Given the description of an element on the screen output the (x, y) to click on. 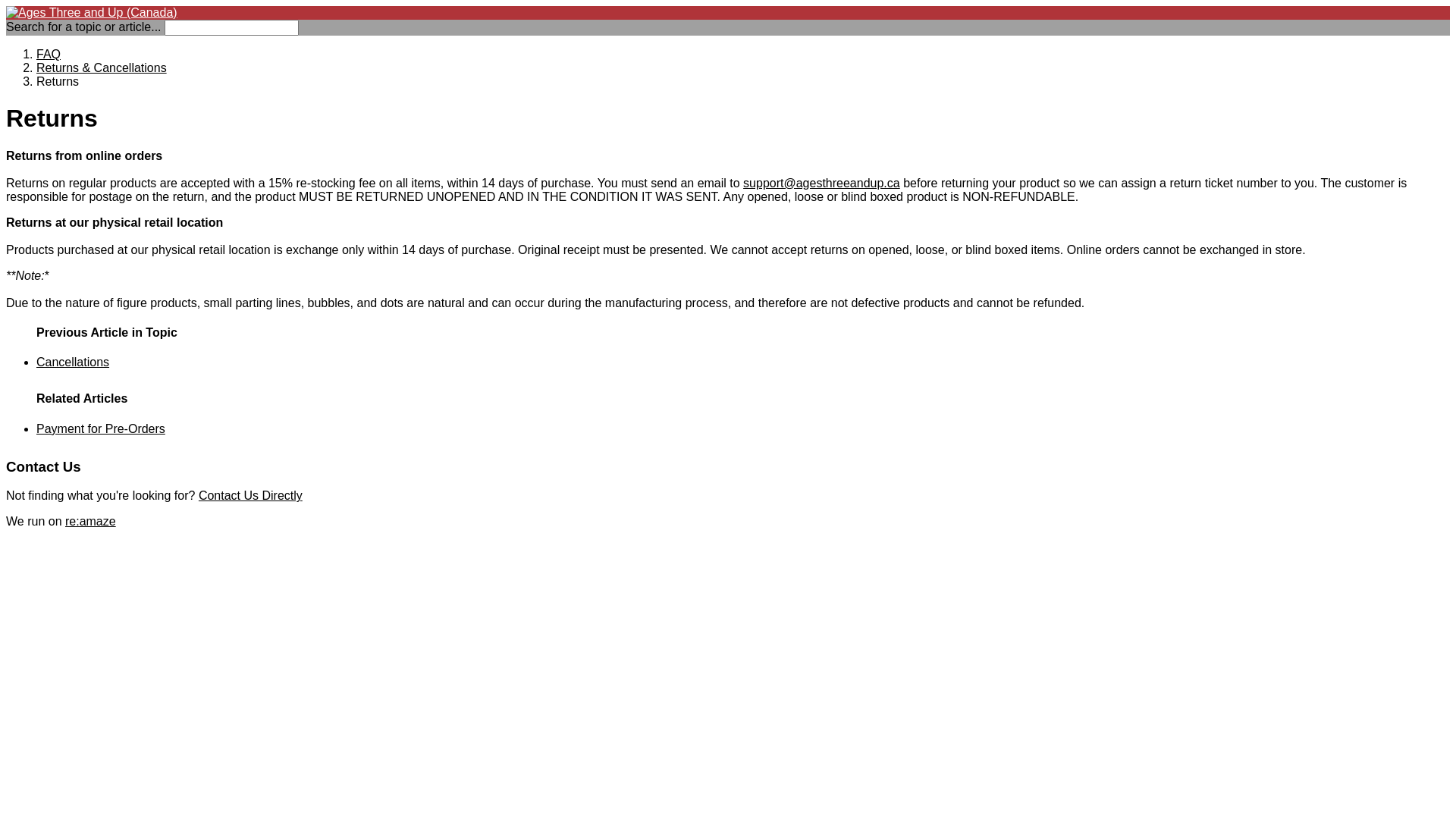
Payment for Pre-Orders Element type: text (100, 428)
re:amaze Element type: text (90, 520)
Contact Us Directly Element type: text (250, 495)
FAQ Element type: text (48, 53)
Returns & Cancellations Element type: text (101, 67)
Cancellations Element type: text (72, 361)
support@agesthreeandup.ca Element type: text (821, 182)
